Given the description of an element on the screen output the (x, y) to click on. 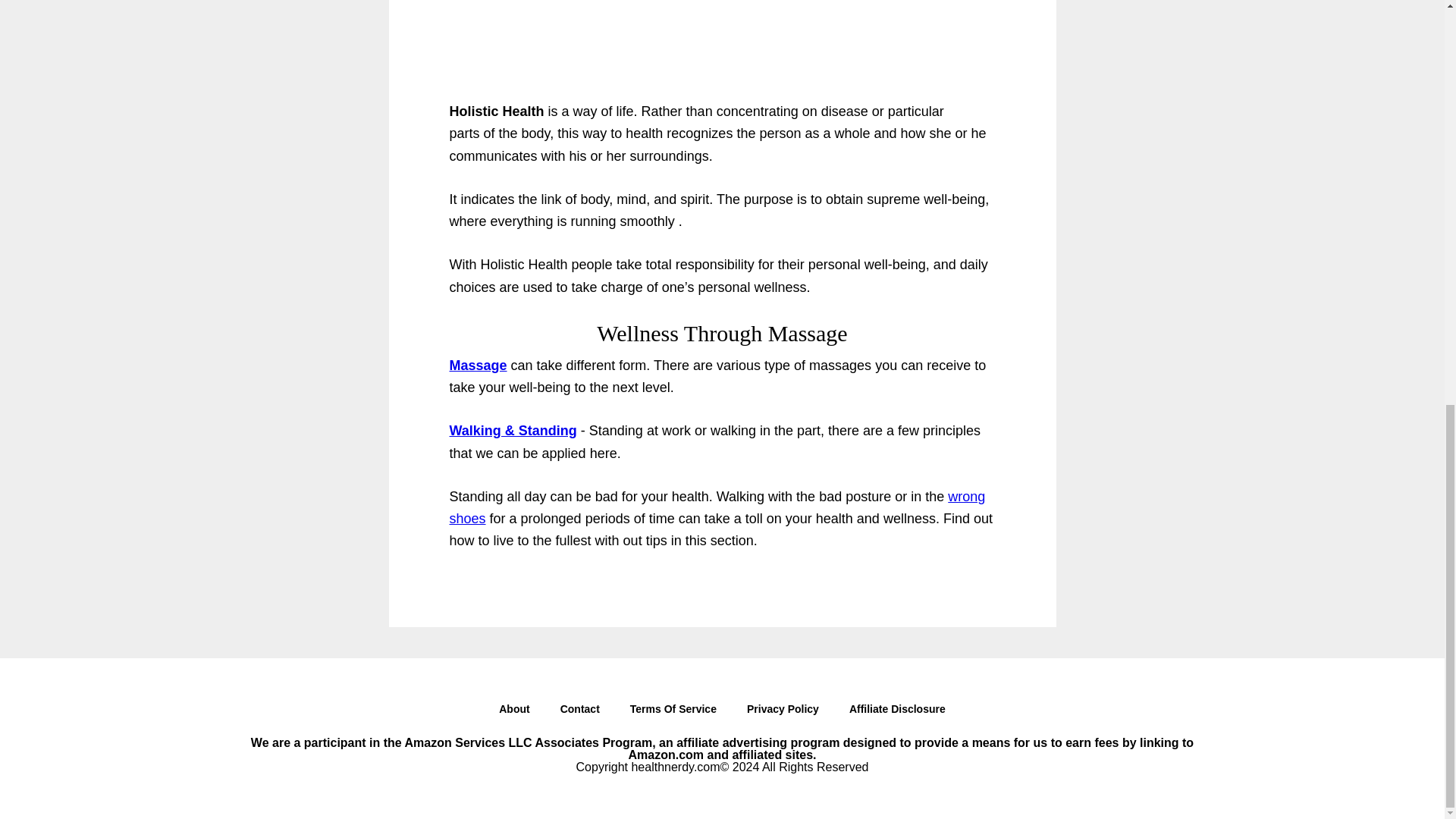
Massage (477, 365)
Contact (579, 712)
About (513, 712)
Terms Of Service (673, 712)
Affiliate Disclosure (897, 712)
Privacy Policy (783, 712)
wrong shoes (716, 507)
